Given the description of an element on the screen output the (x, y) to click on. 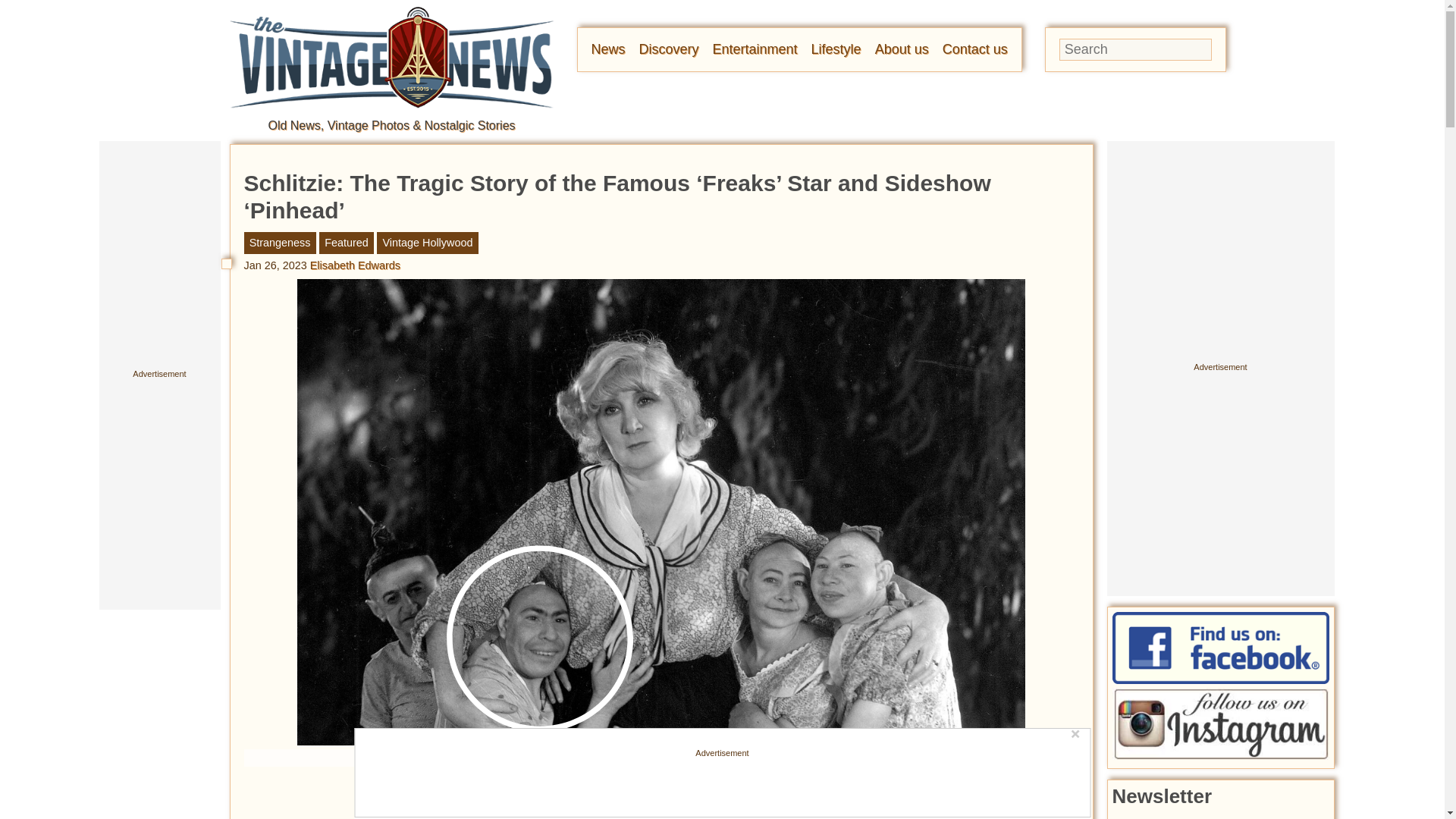
About us (901, 48)
Contact us (974, 48)
Entertainment (755, 48)
Discovery (668, 48)
Lifestyle (835, 48)
News (608, 48)
